Given the description of an element on the screen output the (x, y) to click on. 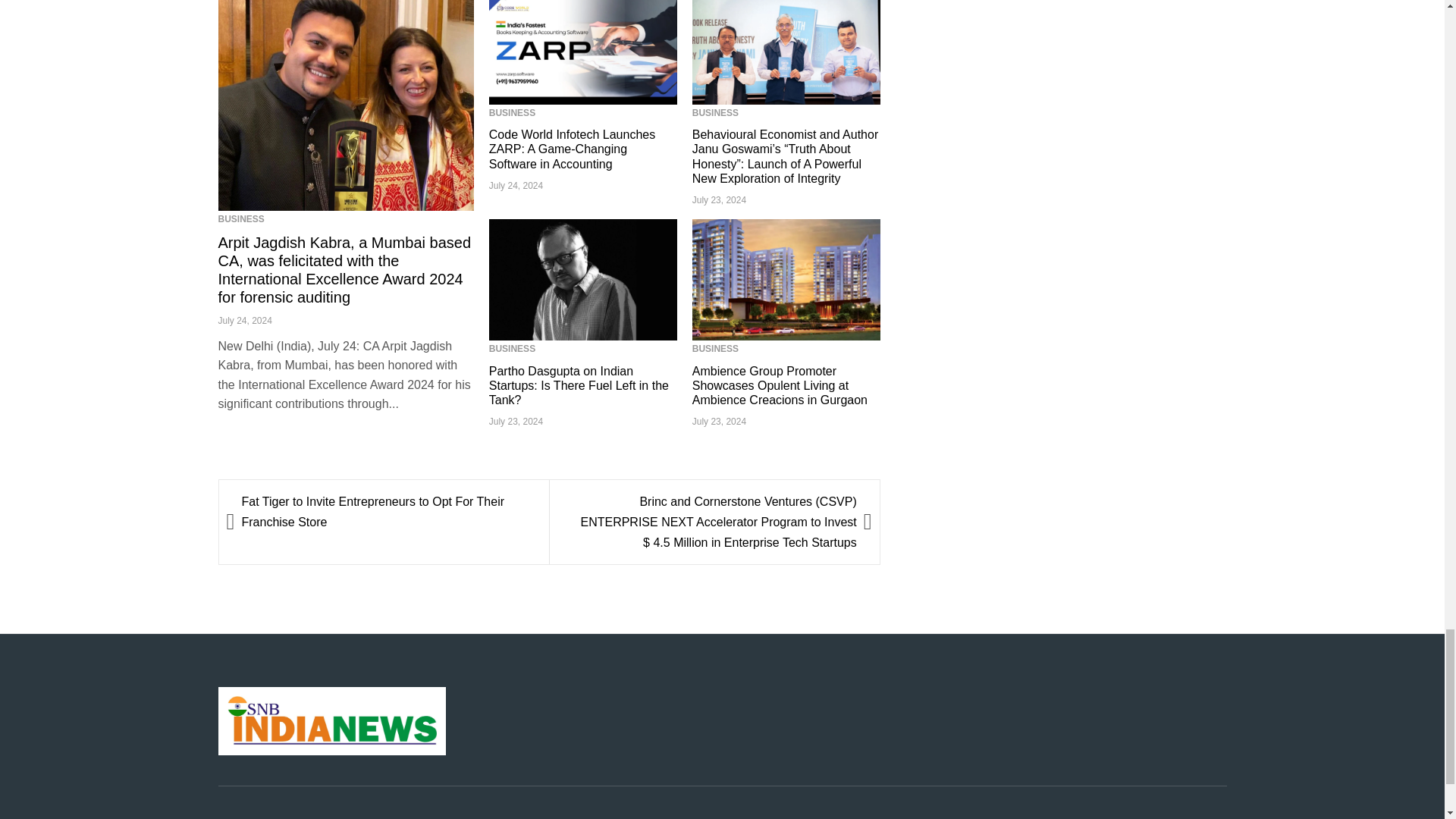
July 23, 2024 (719, 199)
July 23, 2024 (516, 421)
BUSINESS (715, 347)
BUSINESS (241, 218)
